Given the description of an element on the screen output the (x, y) to click on. 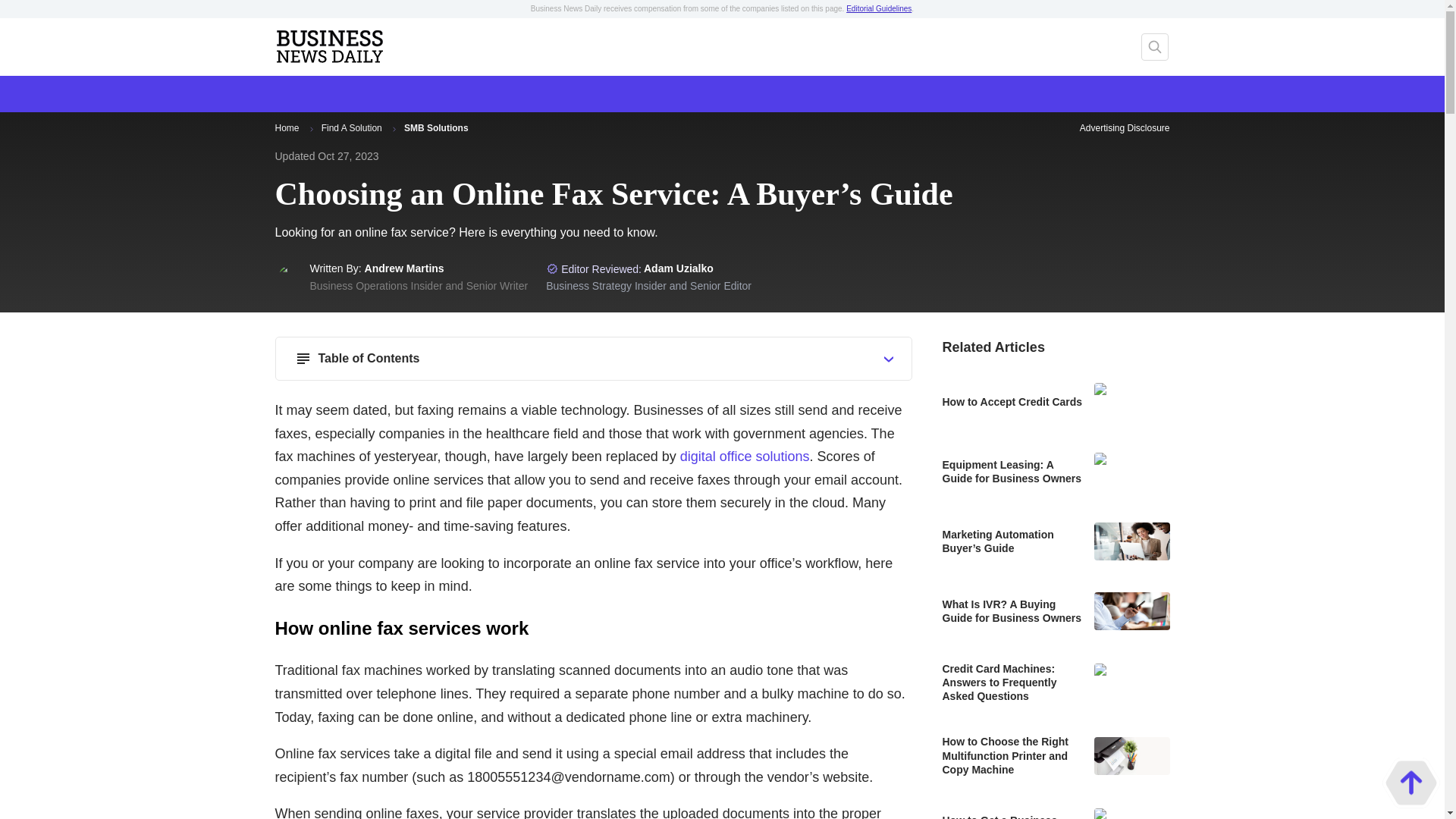
Open row (888, 359)
Verified Check With Border (552, 268)
Arrow (394, 129)
Editorial Guidelines (878, 8)
Arrow (311, 129)
